Given the description of an element on the screen output the (x, y) to click on. 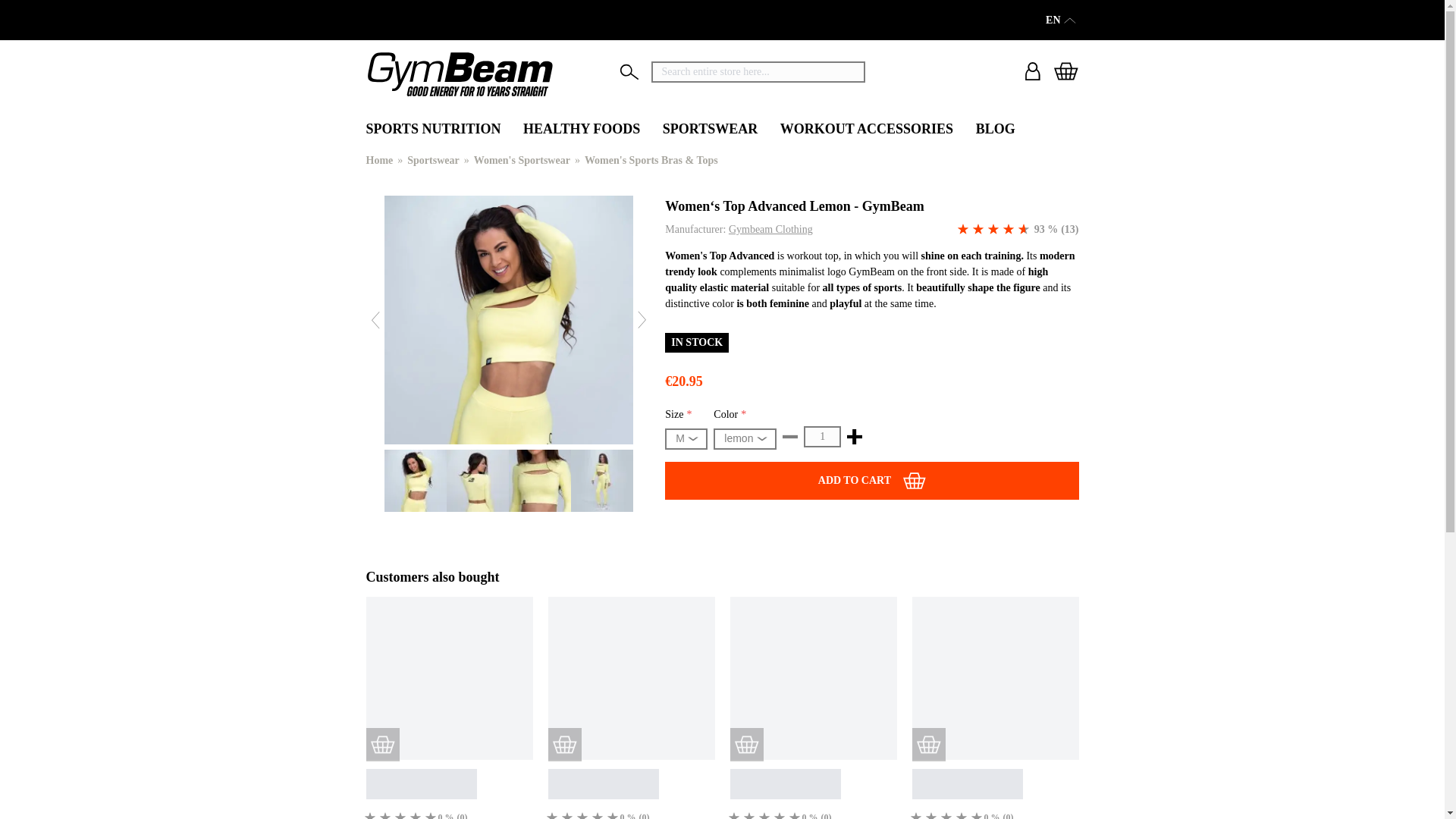
Add to Cart (563, 744)
1 (822, 436)
GymBeam s.r.o. (459, 73)
Add to Cart (745, 744)
SPORTS NUTRITION (432, 129)
0 (369, 813)
Add to Cart (871, 480)
Add to Cart (927, 744)
Add to Cart (381, 744)
